Given the description of an element on the screen output the (x, y) to click on. 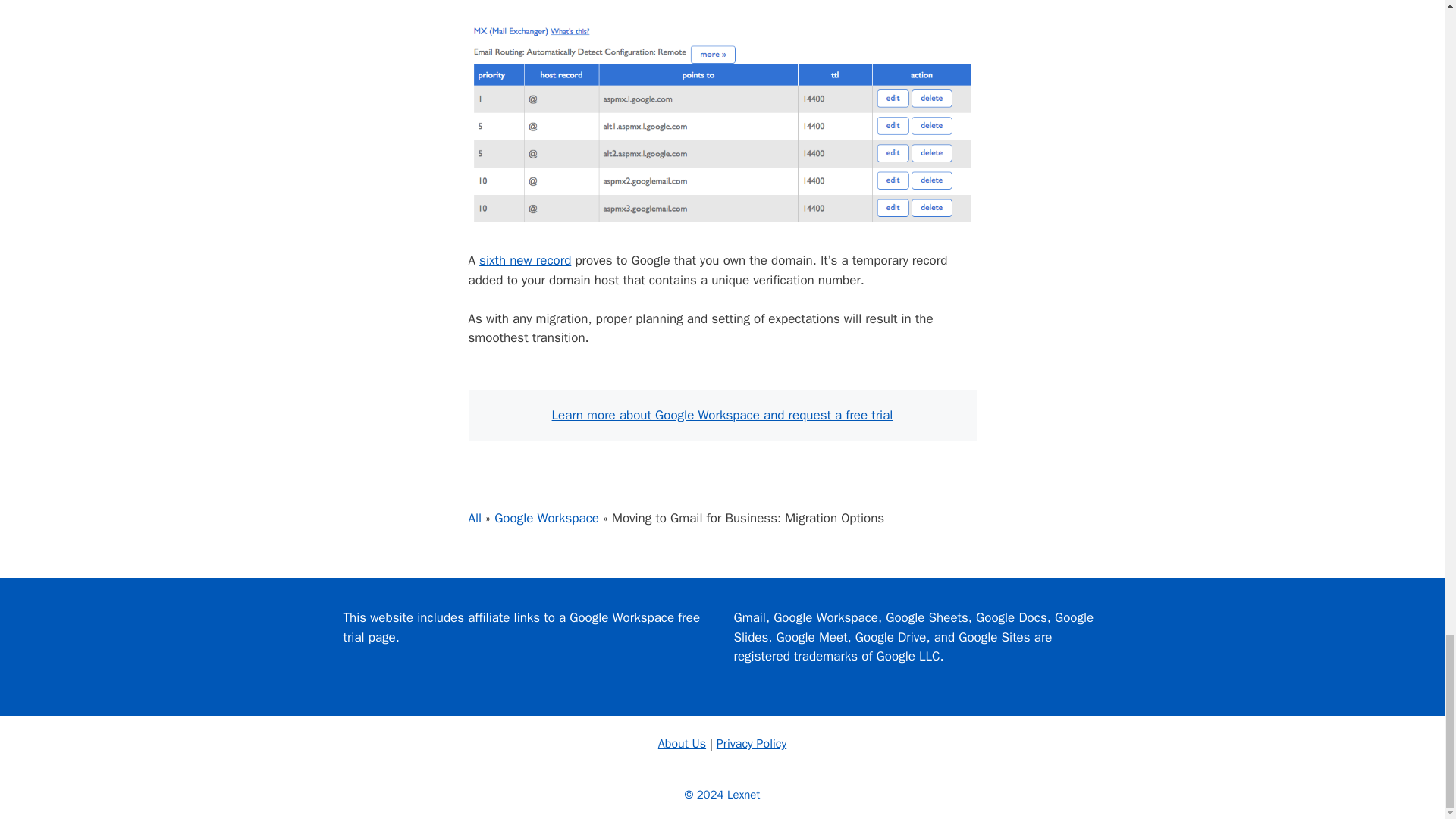
Google Workspace (546, 518)
Learn more about Google Workspace and request a free trial (722, 415)
sixth new record (524, 260)
About Us (682, 743)
All (474, 518)
Privacy Policy (751, 743)
